Given the description of an element on the screen output the (x, y) to click on. 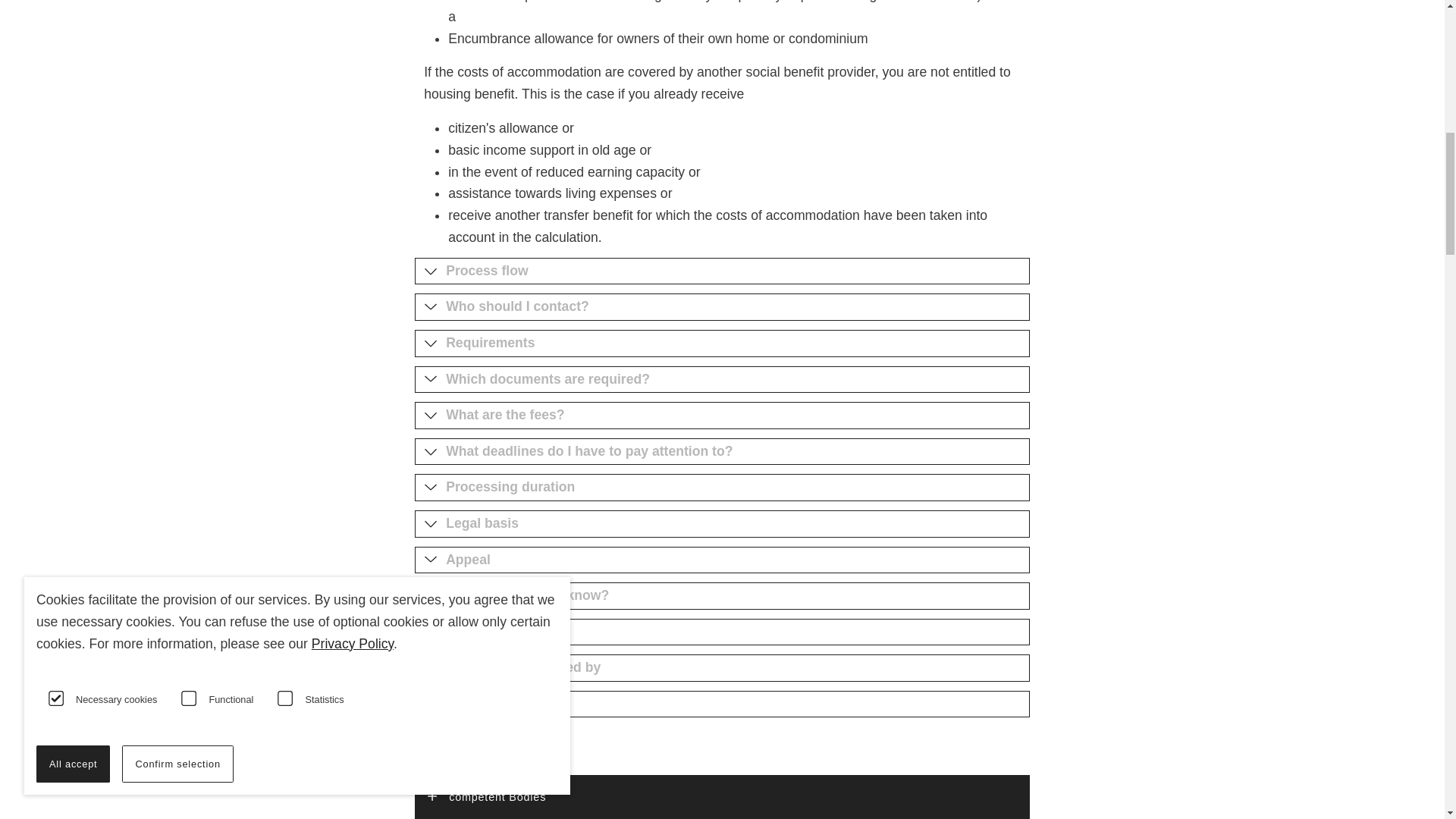
show content of Process flow (721, 271)
show content of Legal basis (721, 523)
show content of What else should I know? (721, 595)
show content of Requirements (721, 343)
show content of Who should I contact? (721, 307)
show content of Appeal (721, 560)
show content of Which documents are required? (721, 379)
show content of What are the fees? (721, 415)
show content of Processing duration (721, 487)
